Given the description of an element on the screen output the (x, y) to click on. 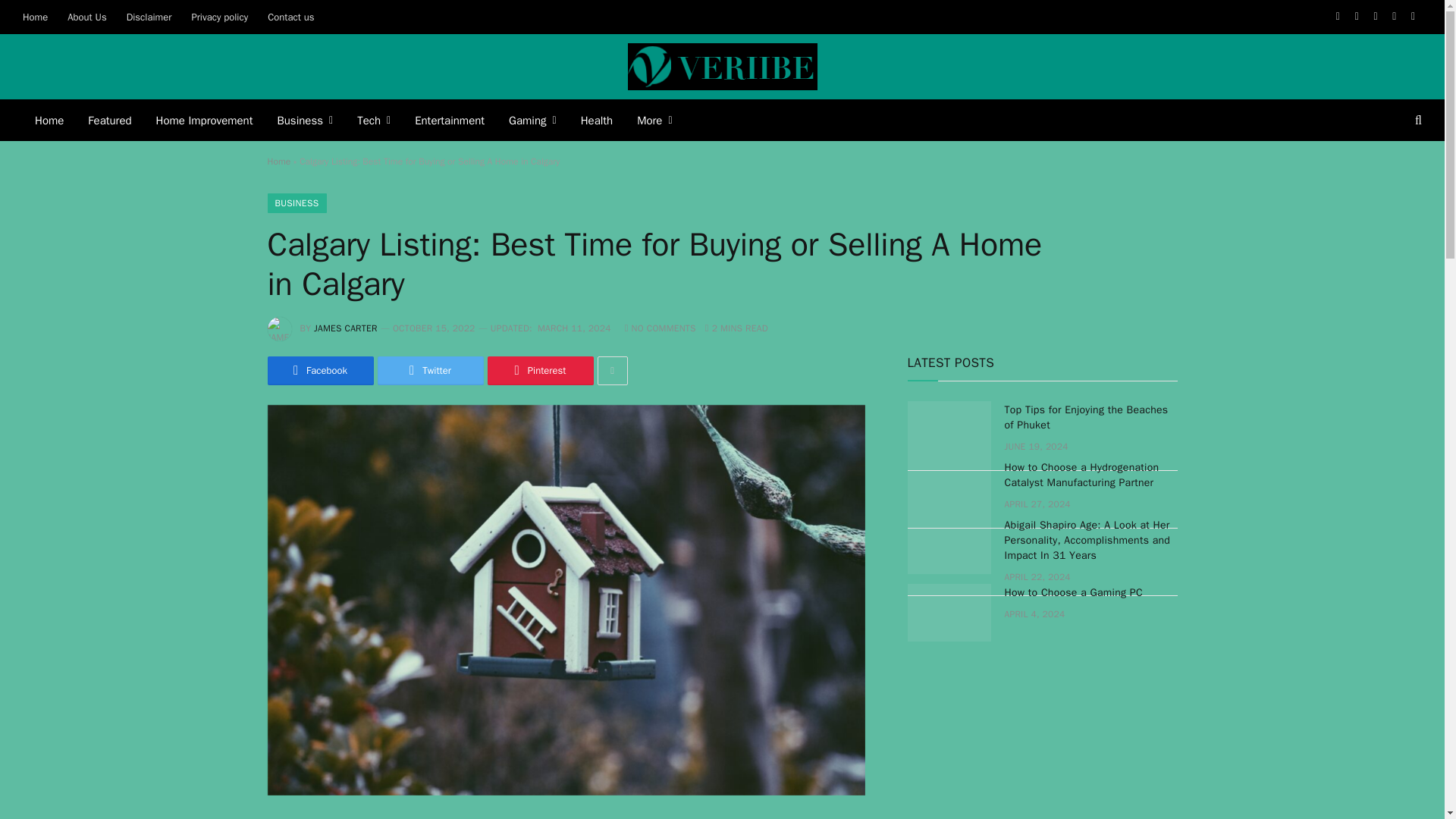
Disclaimer (149, 17)
Gaming (532, 119)
Share on Pinterest (539, 370)
Entertainment (449, 119)
Home Improvement (204, 119)
Tech (374, 119)
About Us (87, 17)
Health (597, 119)
Business (305, 119)
Home (49, 119)
Share on Facebook (319, 370)
Privacy policy (218, 17)
Posts by James Carter (345, 328)
Featured (108, 119)
Show More Social Sharing (611, 370)
